Given the description of an element on the screen output the (x, y) to click on. 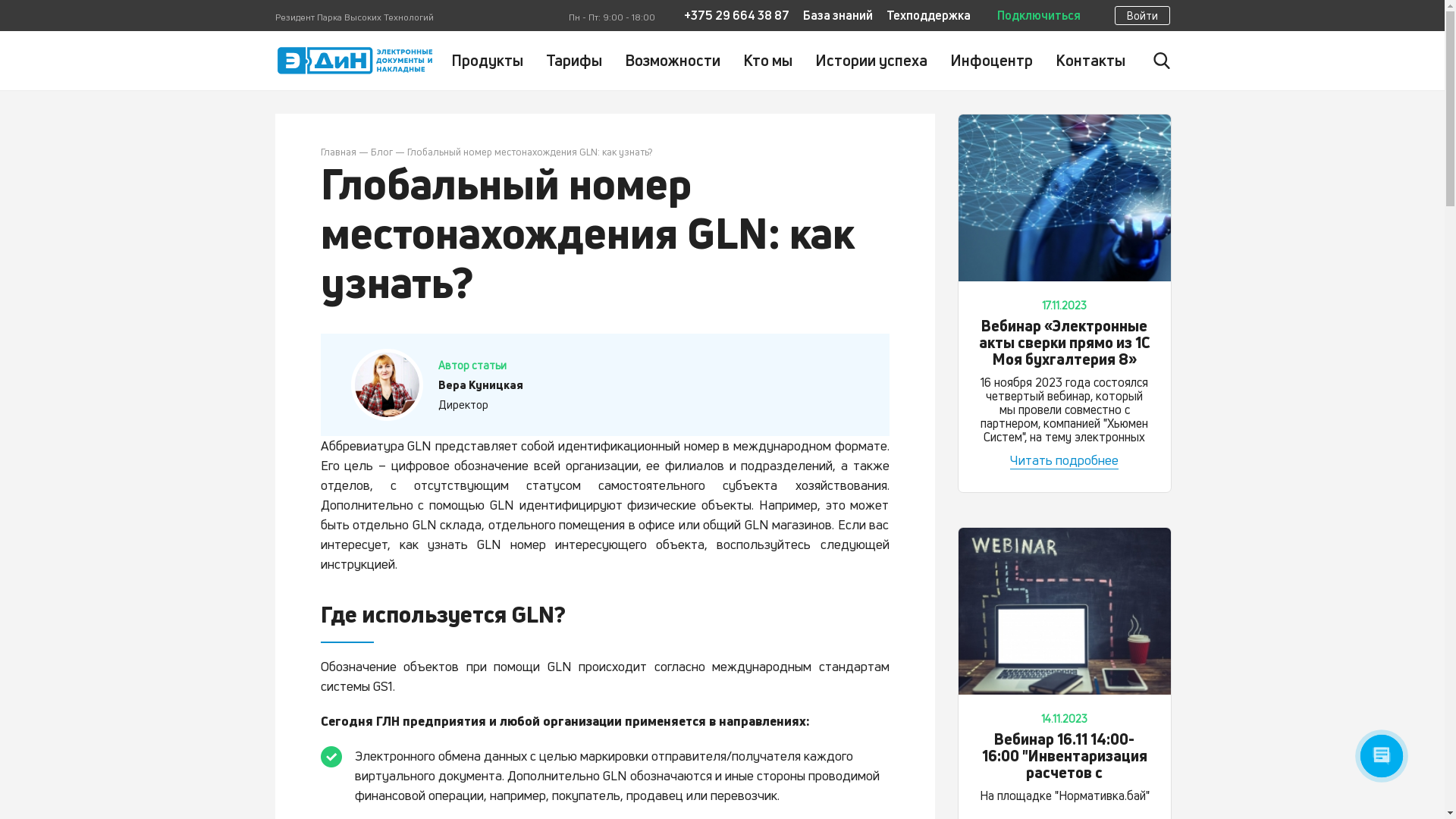
+375 29 664 38 87 Element type: text (736, 15)
